Given the description of an element on the screen output the (x, y) to click on. 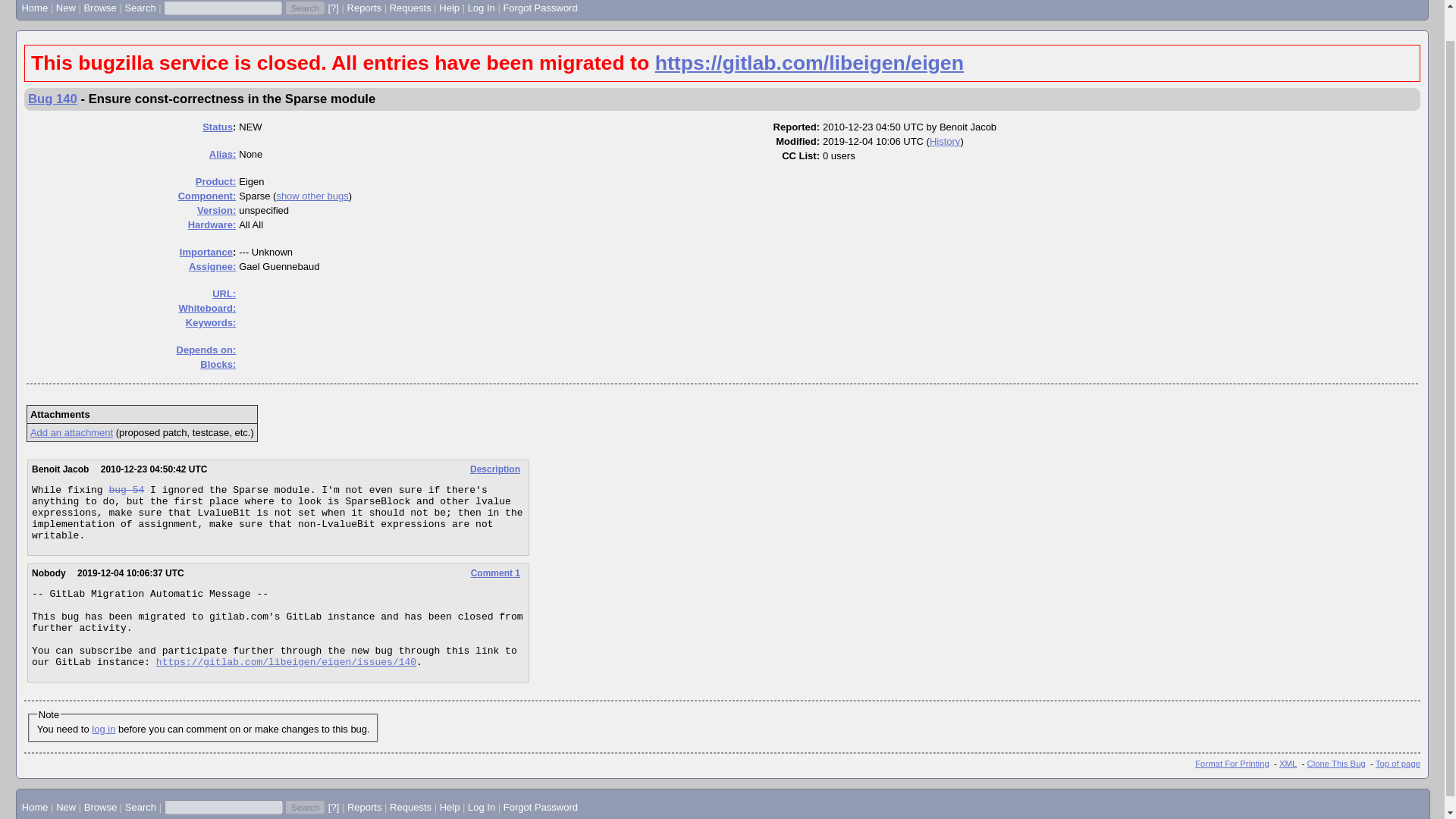
Comment 1 (494, 573)
Hardware: (211, 224)
Search (304, 7)
New (65, 7)
Depends on: (205, 349)
Help (449, 7)
Forgot Password (539, 7)
log in (103, 728)
Add an attachment (71, 432)
Whiteboard: (206, 307)
Version: (215, 210)
